Given the description of an element on the screen output the (x, y) to click on. 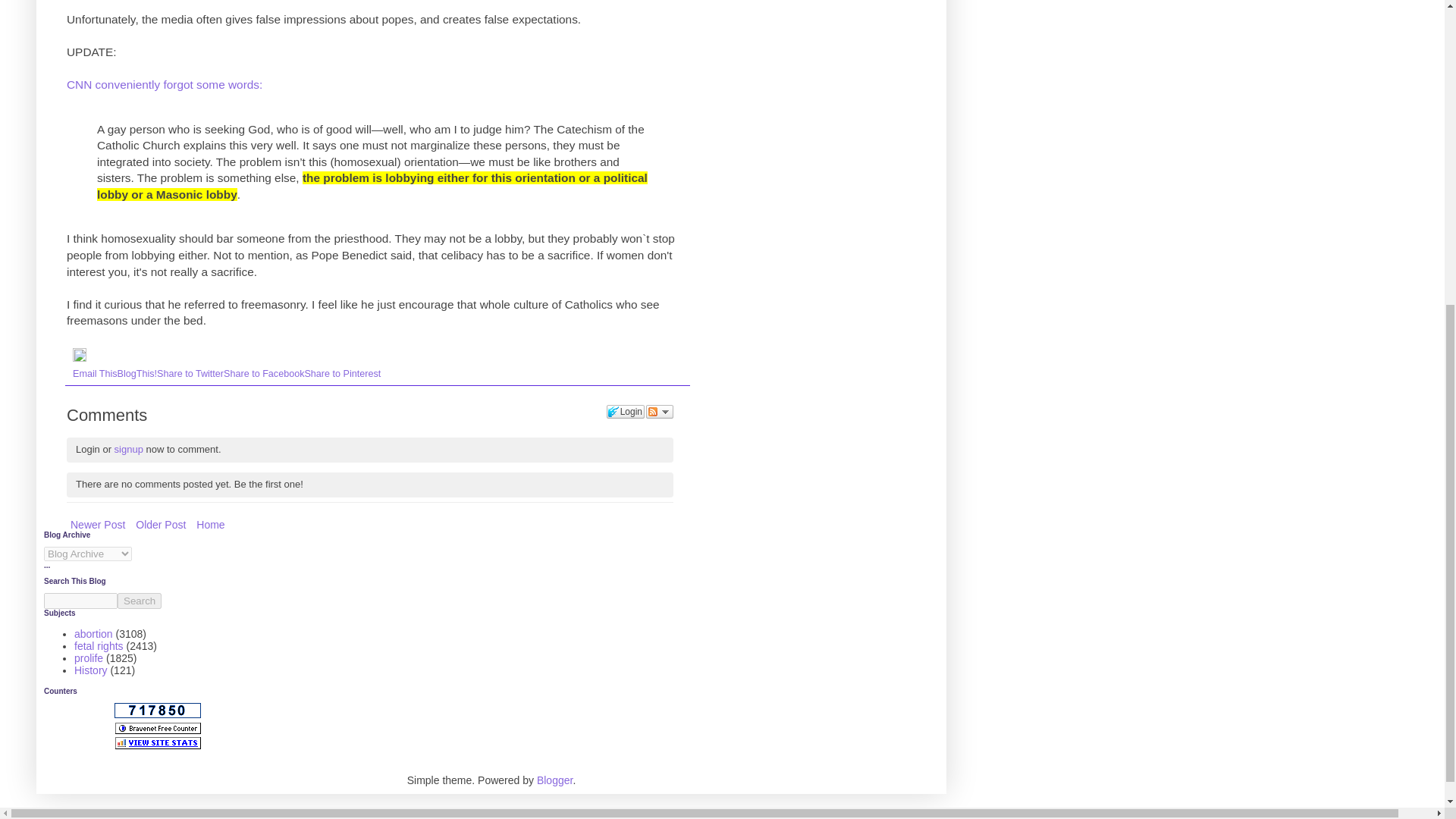
BlogThis! (137, 373)
Share to Pinterest (342, 373)
Edit Post (78, 357)
Share to Twitter (190, 373)
Login (626, 411)
Search (139, 600)
Share to Pinterest (342, 373)
Share to Facebook (264, 373)
Older Post (160, 524)
search (139, 600)
Newer Post (97, 524)
Share to Facebook (264, 373)
Share to Twitter (190, 373)
CNN conveniently forgot some words: (164, 83)
Email This (94, 373)
